Given the description of an element on the screen output the (x, y) to click on. 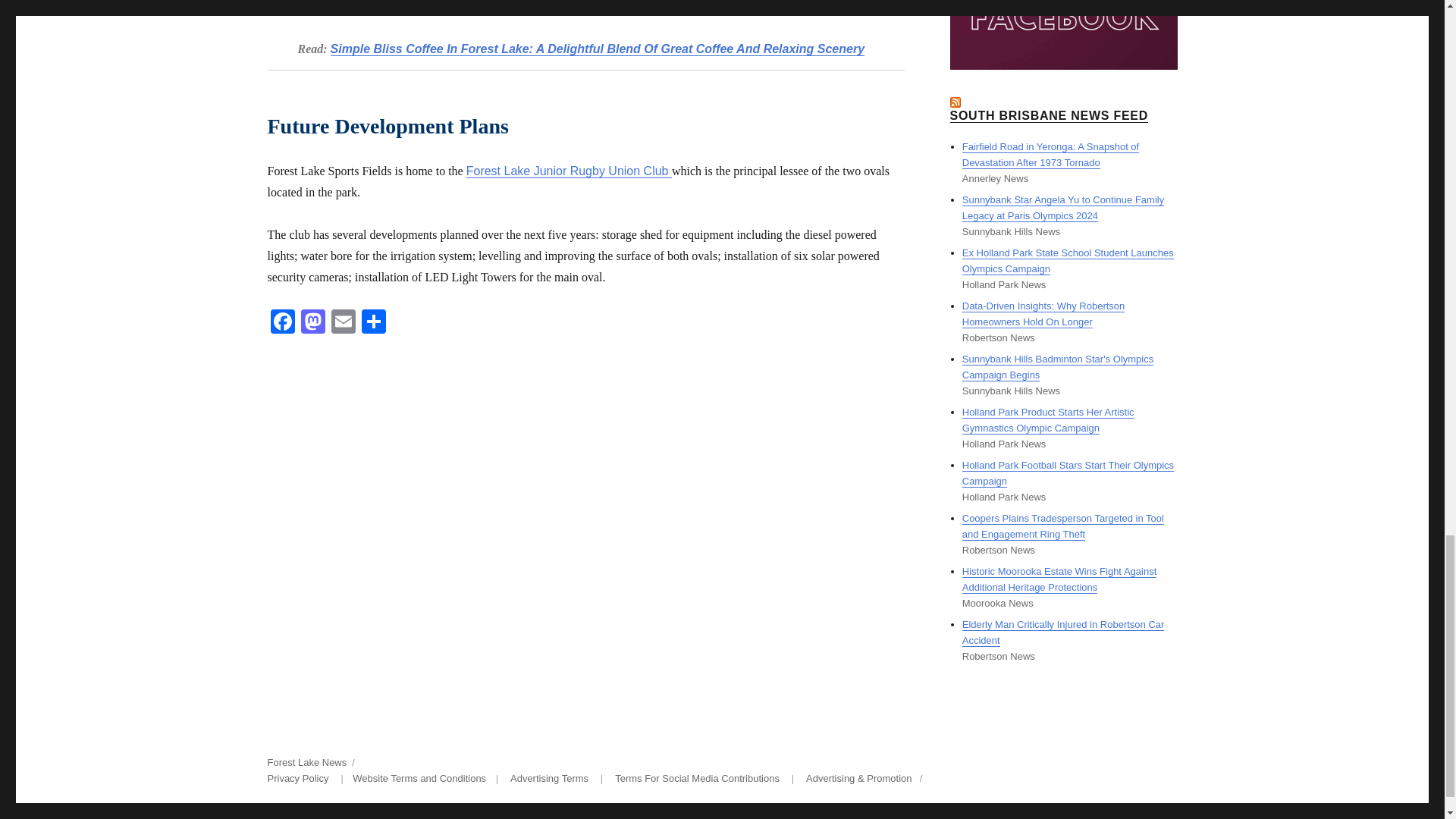
Email (342, 323)
Facebook (281, 323)
Forest Lake Junior Rugby Union Club (568, 170)
Facebook (281, 323)
Sunnybank Hills Badminton Star's Olympics Campaign Begins (1057, 366)
SOUTH BRISBANE NEWS FEED (1048, 115)
Holland Park Football Stars Start Their Olympics Campaign (1067, 472)
Mastodon (312, 323)
Email (342, 323)
